Given the description of an element on the screen output the (x, y) to click on. 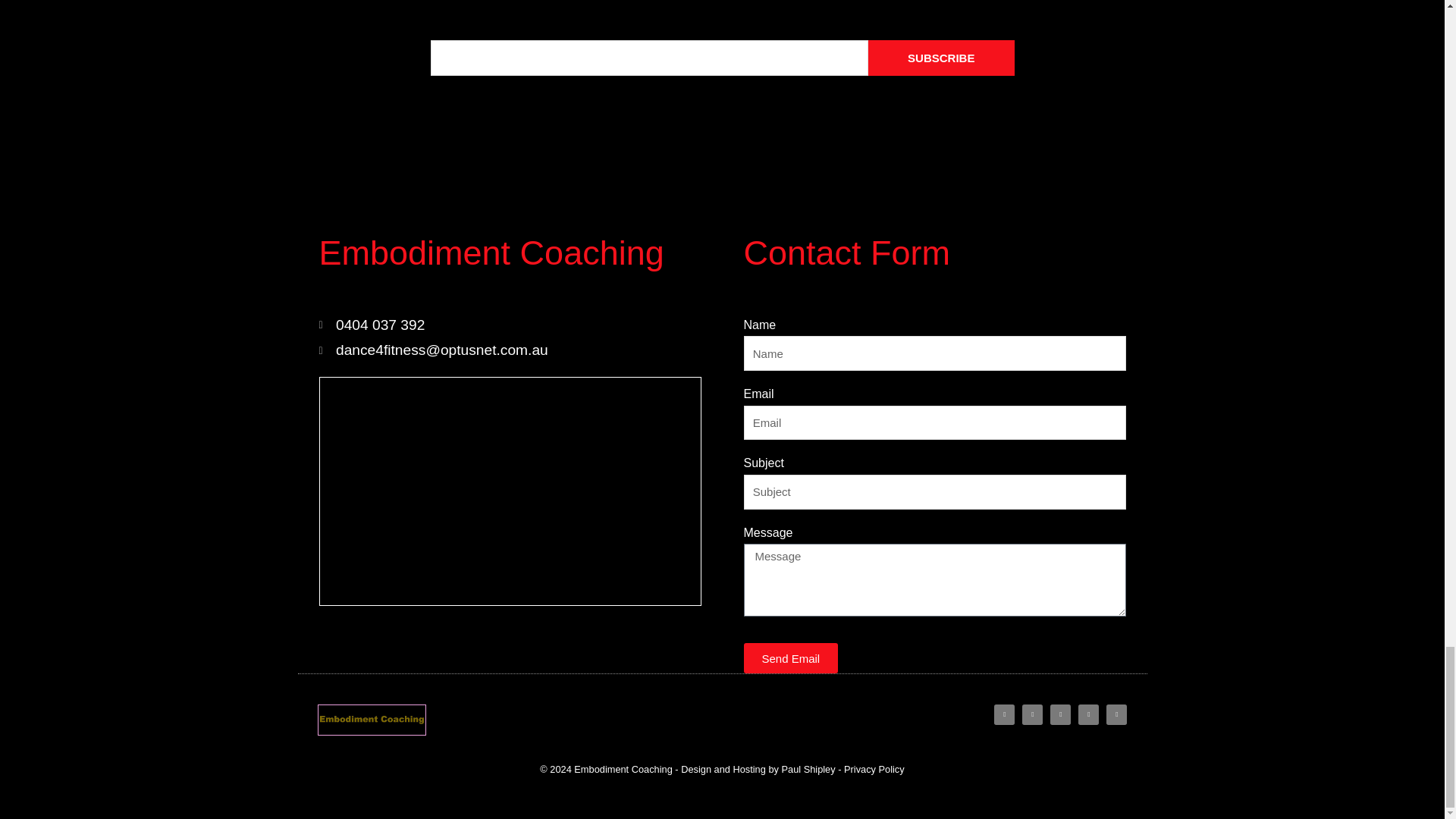
Elwood, Victoria, Australia  (510, 491)
Send Email (790, 657)
Facebook (1004, 714)
SUBSCRIBE (940, 58)
Paul Shipley (807, 768)
Pinterest (1088, 714)
Twitter (1032, 714)
0404 037 392 (509, 325)
Privacy Policy (874, 768)
Youtube (1059, 714)
Rss (1116, 714)
